Given the description of an element on the screen output the (x, y) to click on. 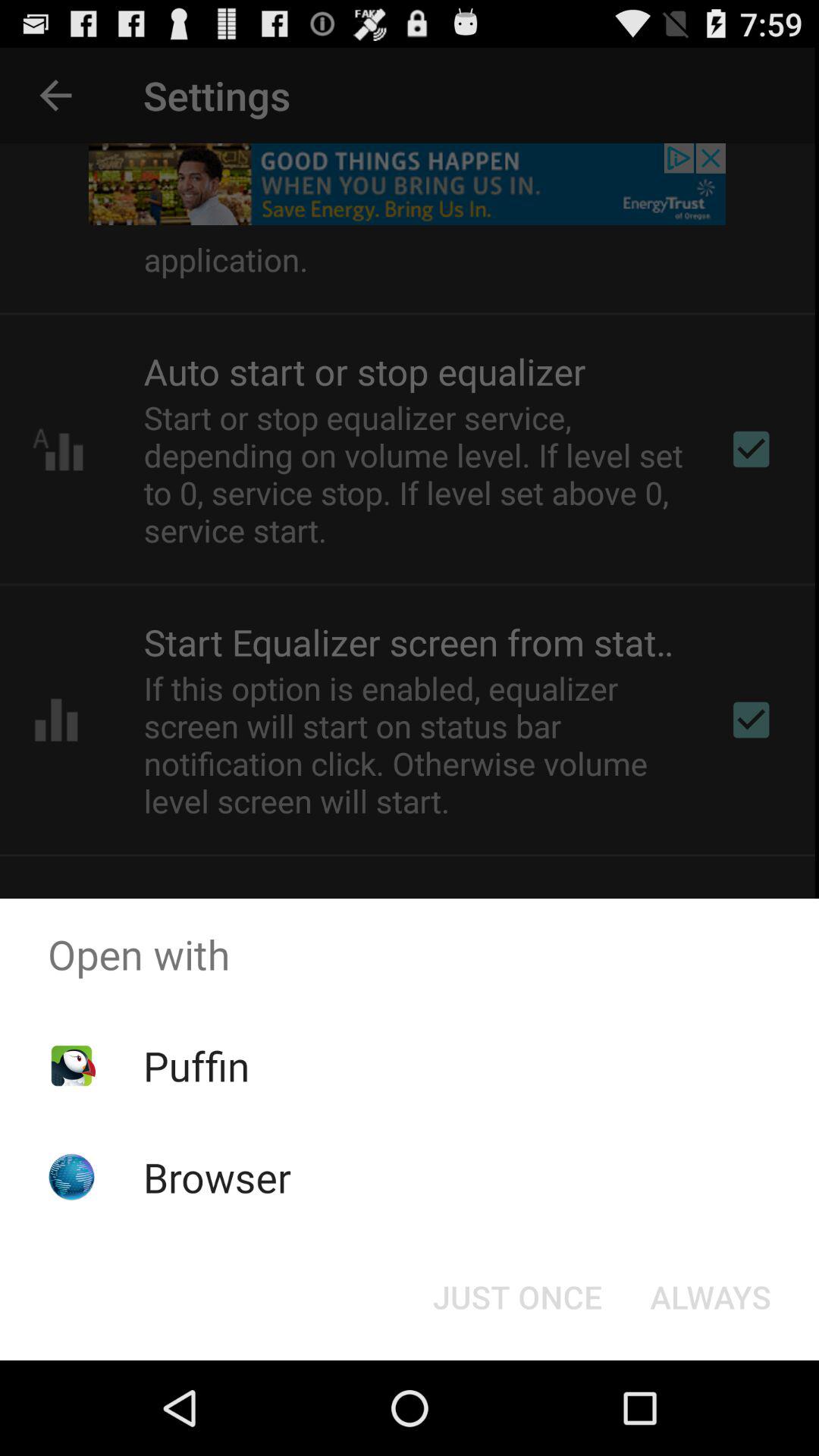
launch the browser app (217, 1176)
